Given the description of an element on the screen output the (x, y) to click on. 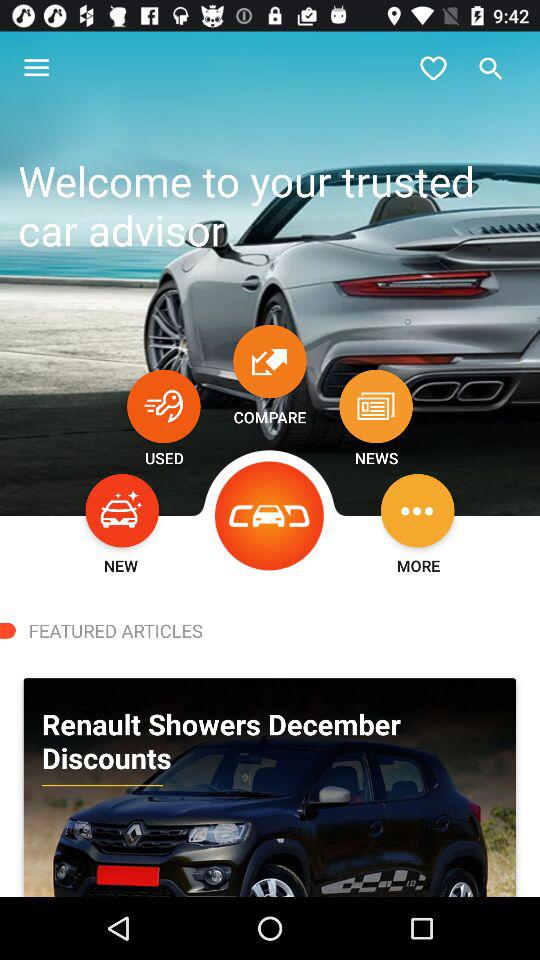
search used cars (163, 406)
